Given the description of an element on the screen output the (x, y) to click on. 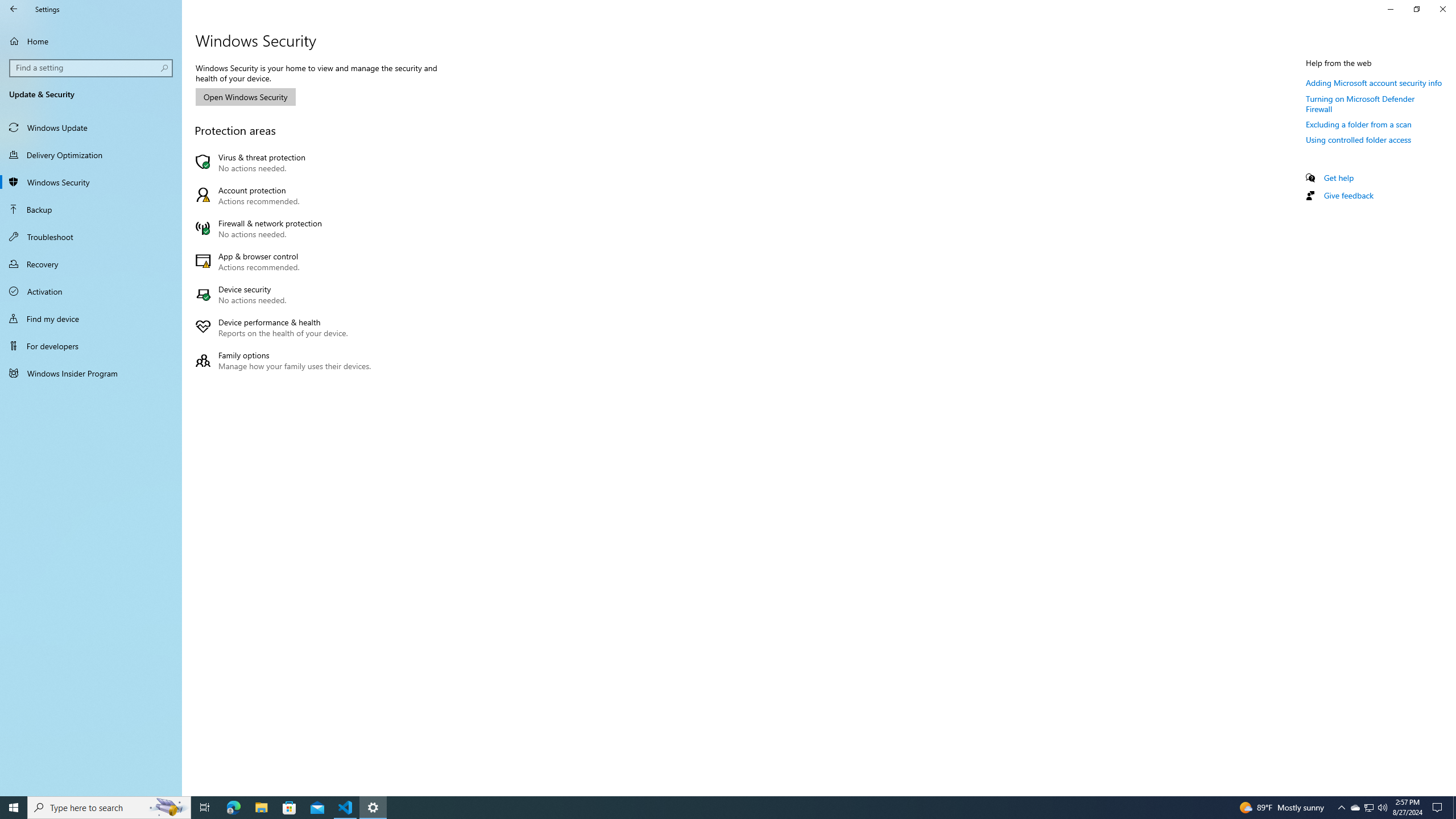
Windows Update (91, 126)
Delivery Optimization (91, 154)
Windows Insider Program (91, 372)
Find my device (91, 318)
Device performance & health (285, 327)
